Given the description of an element on the screen output the (x, y) to click on. 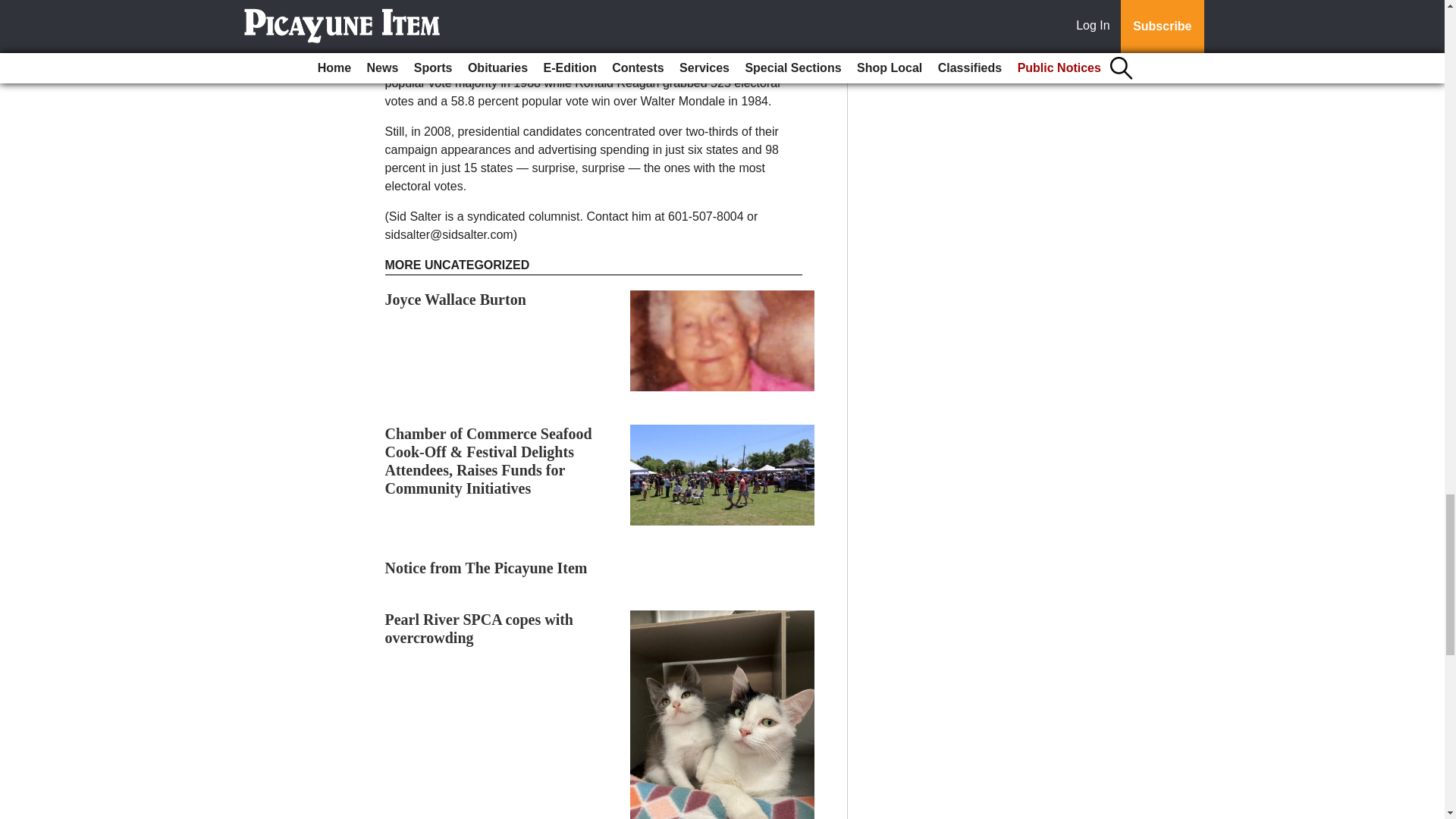
Pearl River SPCA copes with overcrowding (479, 628)
Notice from The Picayune Item (486, 567)
Pearl River SPCA copes with overcrowding (479, 628)
Notice from The Picayune Item (486, 567)
Joyce Wallace Burton (455, 299)
Joyce Wallace Burton (455, 299)
